Given the description of an element on the screen output the (x, y) to click on. 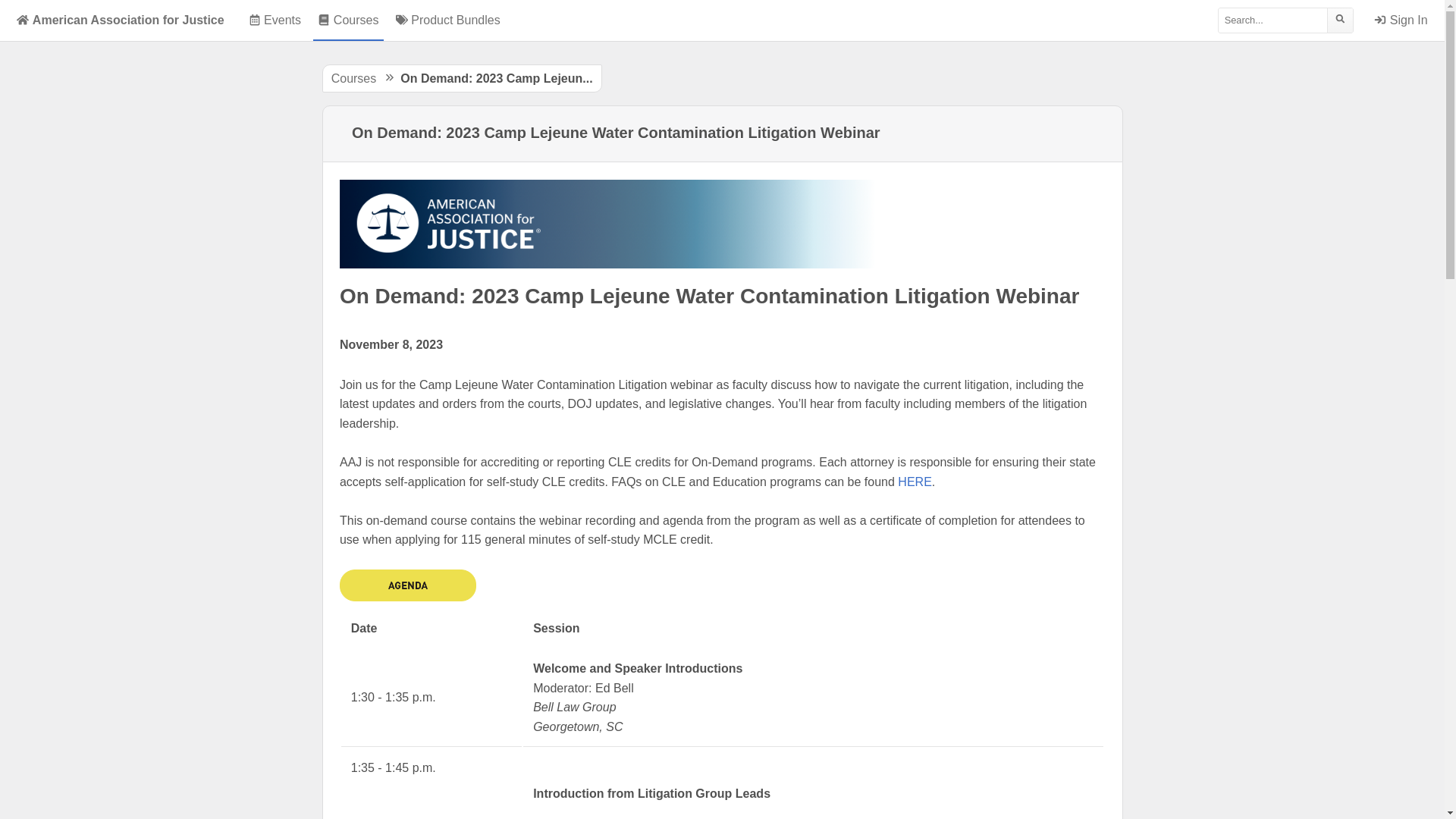
American Association for Justice (119, 20)
HERE (914, 481)
Product Bundles (447, 20)
Product Bundles (447, 20)
Sign In (1401, 20)
Courses (354, 78)
Events (274, 20)
American Association for Justice (119, 20)
Courses (348, 20)
Courses (348, 20)
Events (274, 20)
